Given the description of an element on the screen output the (x, y) to click on. 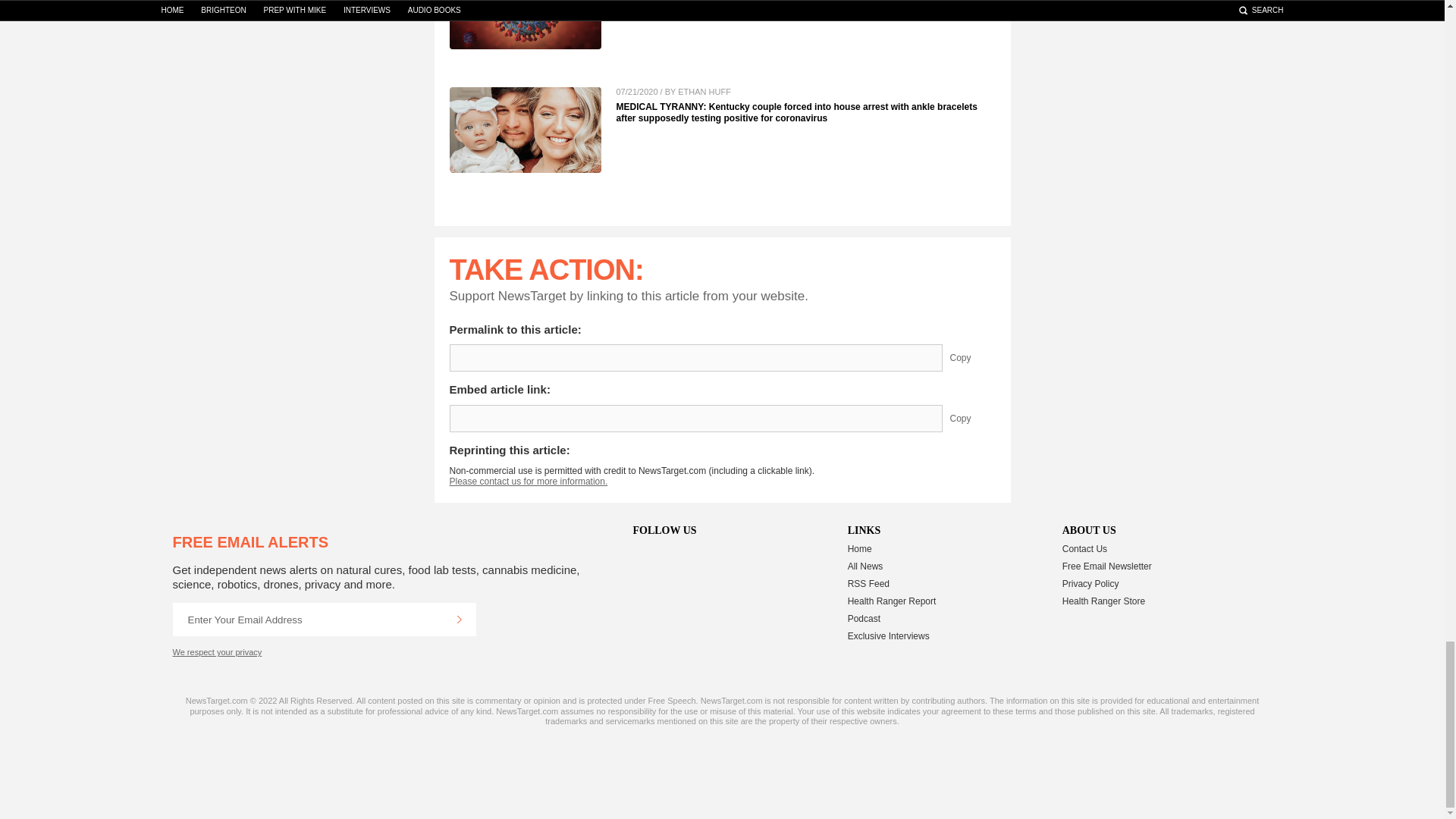
Copy Permalink (971, 357)
Copy Embed Link (971, 418)
Continue (459, 619)
